Given the description of an element on the screen output the (x, y) to click on. 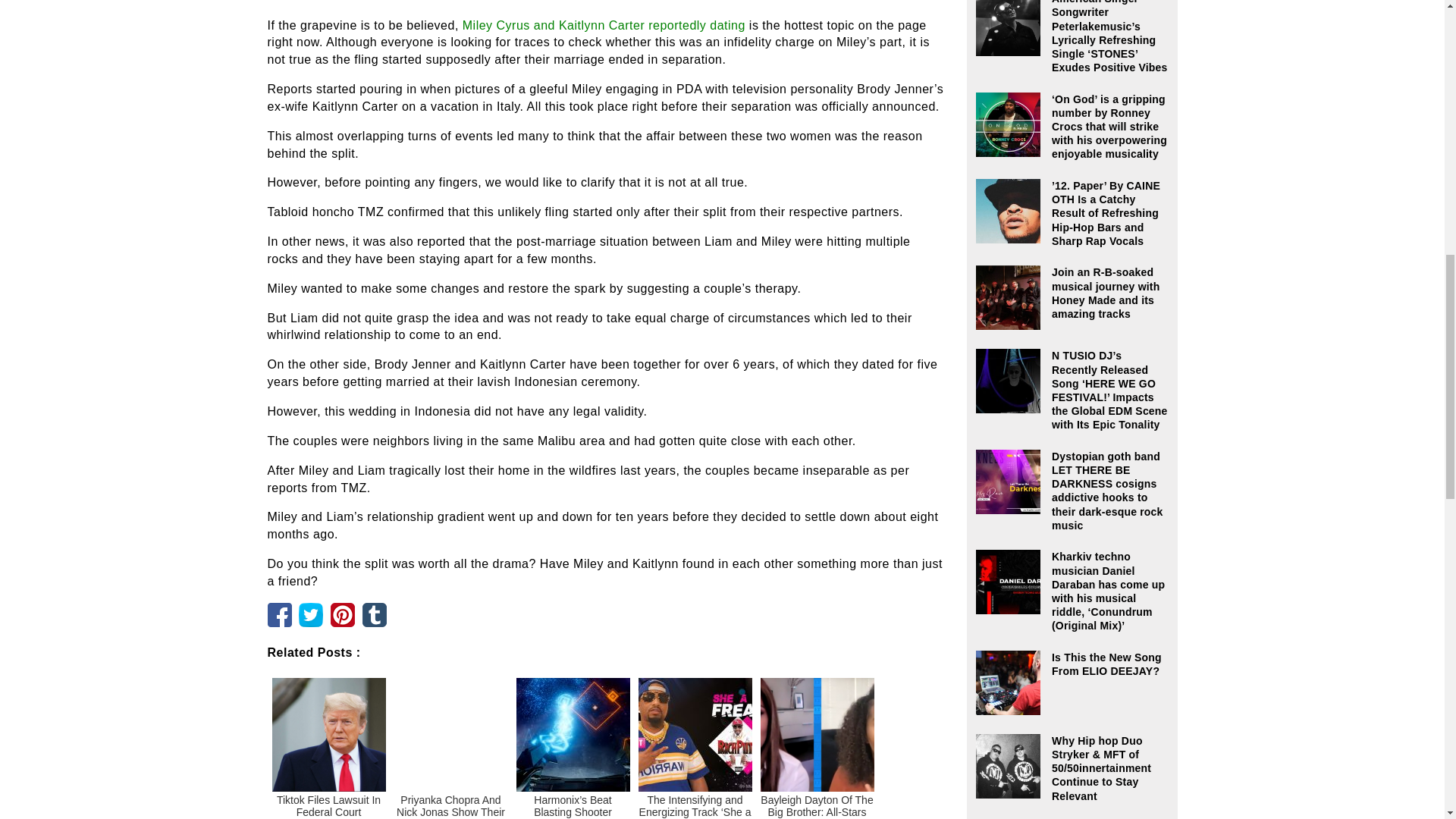
Is This the New Song From ELIO DEEJAY? (1072, 664)
Miley Cyrus and Kaitlynn Carter reportedly dating (604, 24)
